Given the description of an element on the screen output the (x, y) to click on. 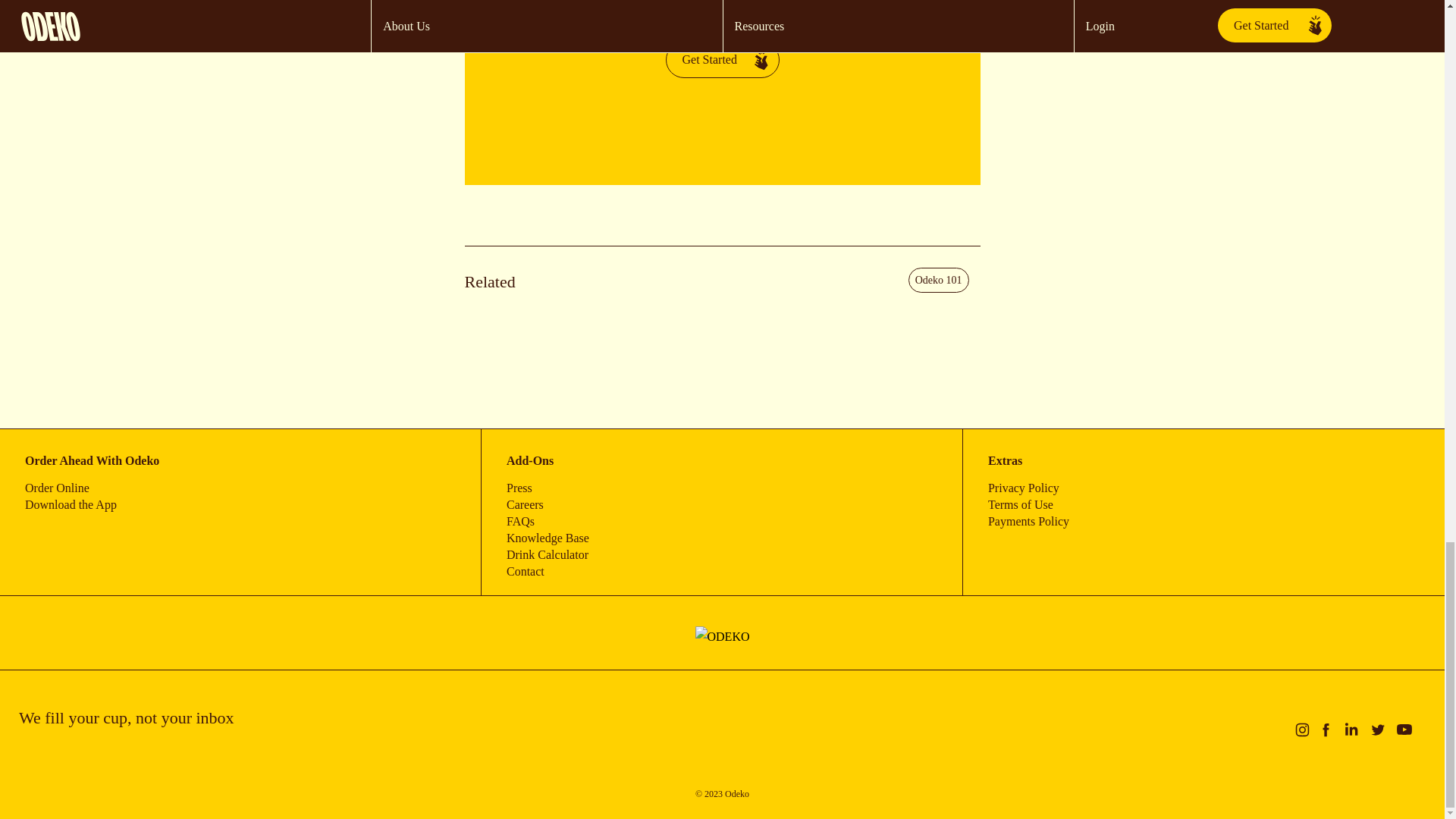
Odeko 101 (938, 279)
Download the App (70, 504)
Get Started (721, 59)
Order Online (56, 487)
Press (519, 487)
